Given the description of an element on the screen output the (x, y) to click on. 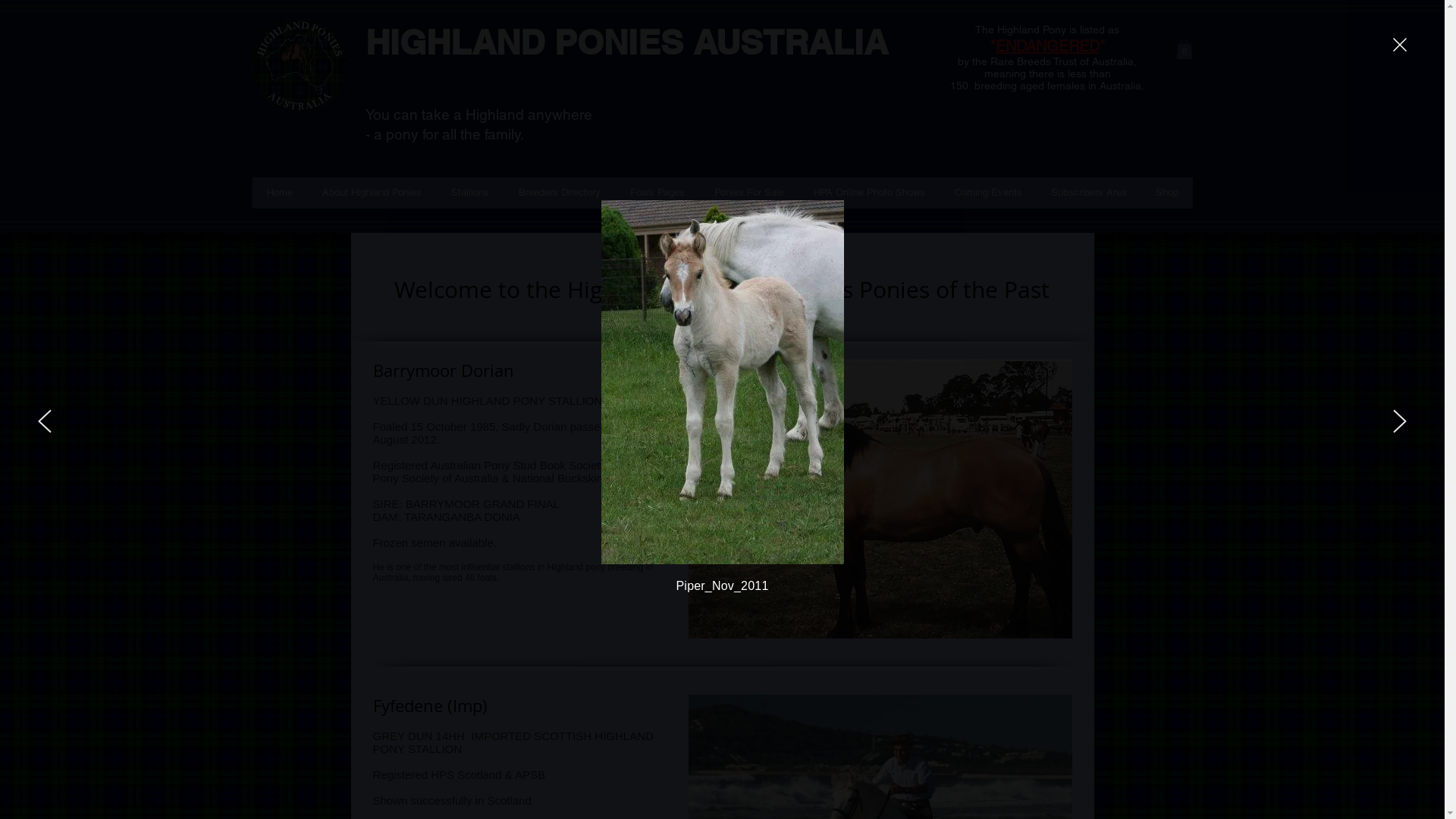
Stallions Element type: text (470, 197)
About Highland Ponies Element type: text (371, 197)
Coming Events Element type: text (988, 197)
HPA Online Photo Shows Element type: text (869, 197)
Foals Pages Element type: text (657, 197)
Home Element type: text (279, 197)
Breeders Directory Element type: text (559, 197)
Shop Element type: text (1166, 197)
0 Element type: text (1183, 49)
Subscribers Area Element type: text (1087, 197)
Ponies For Sale Element type: text (748, 197)
